Given the description of an element on the screen output the (x, y) to click on. 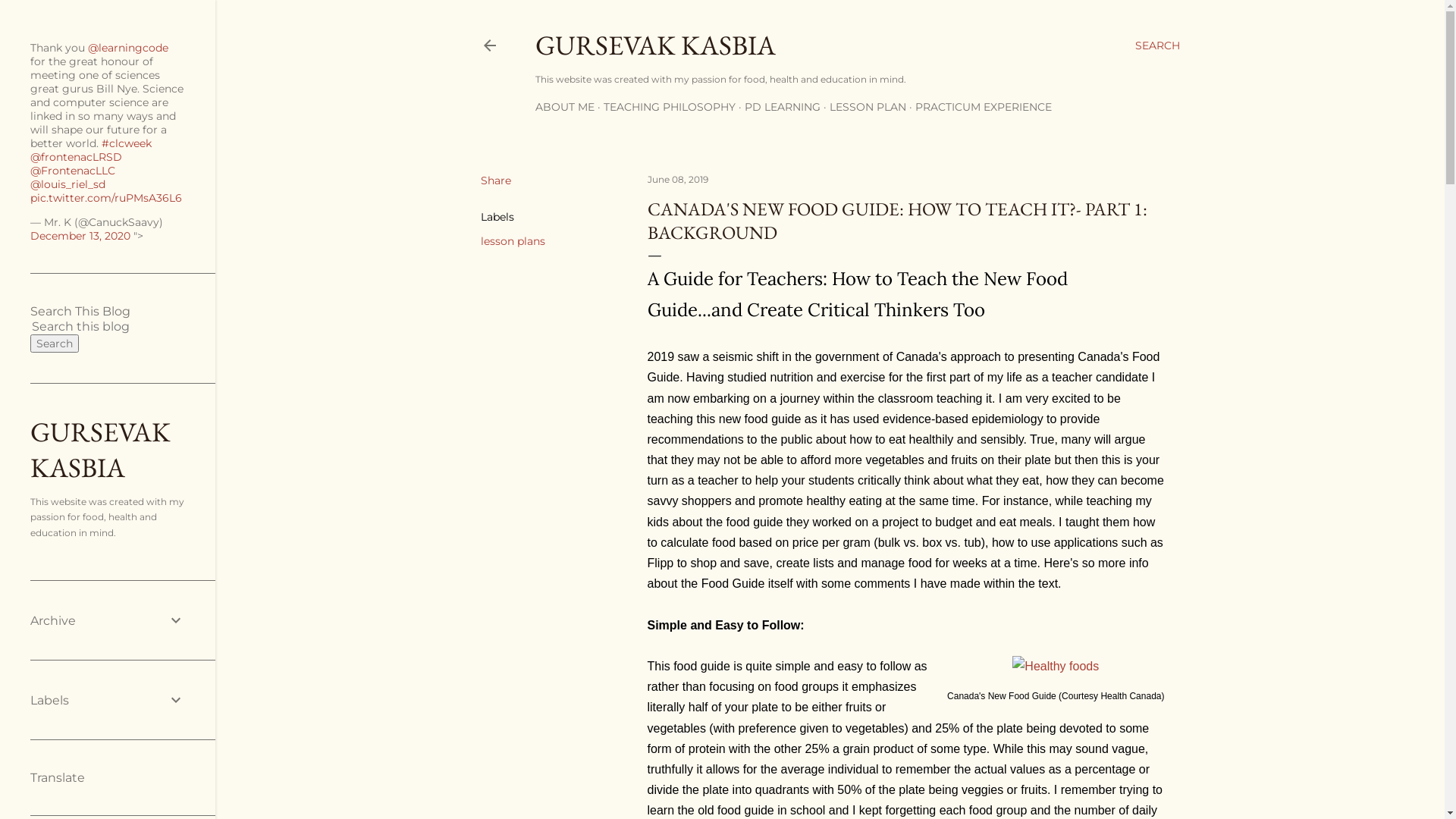
GURSEVAK KASBIA Element type: text (655, 44)
June 08, 2019 Element type: text (677, 179)
GURSEVAK KASBIA Element type: text (100, 449)
TEACHING PHILOSOPHY Element type: text (669, 106)
pic.twitter.com/ruPMsA36L6 Element type: text (106, 197)
LESSON PLAN Element type: text (867, 106)
#clcweek Element type: text (126, 143)
PD LEARNING Element type: text (782, 106)
SEARCH Element type: text (1156, 45)
@learningcode Element type: text (127, 47)
@FrontenacLLC Element type: text (72, 170)
Search Element type: text (54, 343)
ABOUT ME Element type: text (564, 106)
@louis_riel_sd Element type: text (67, 184)
December 13, 2020 Element type: text (80, 235)
@frontenacLRSD Element type: text (76, 156)
lesson plans Element type: text (512, 240)
Share Element type: text (495, 180)
PRACTICUM EXPERIENCE Element type: text (982, 106)
